Given the description of an element on the screen output the (x, y) to click on. 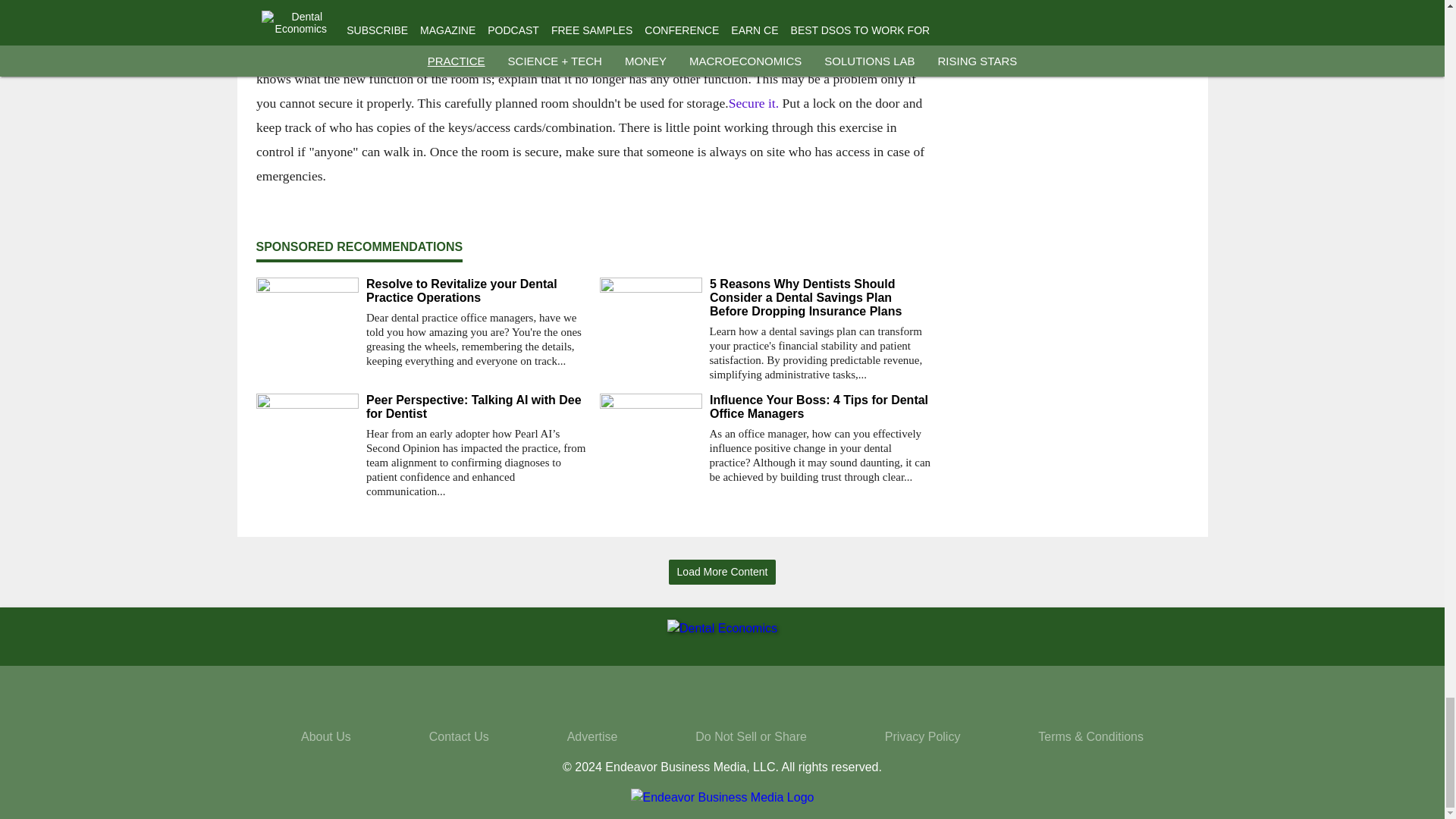
Influence Your Boss: 4 Tips for Dental Office Managers (820, 406)
Peer Perspective: Talking AI with Dee for Dentist (476, 406)
Resolve to Revitalize your Dental Practice Operations (476, 290)
